Given the description of an element on the screen output the (x, y) to click on. 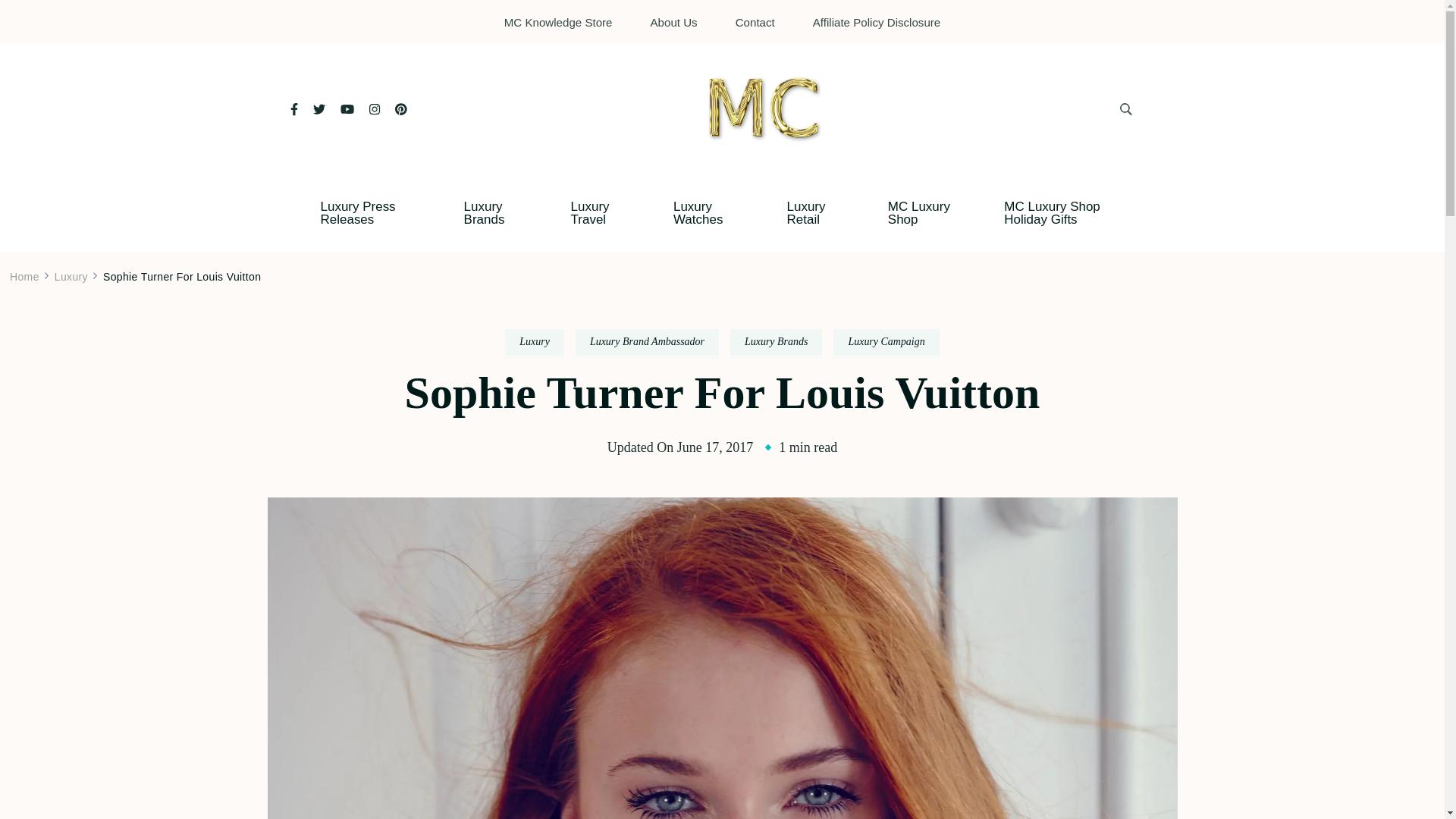
About Us (673, 21)
MC Luxury Shop Holiday Gifts (1067, 212)
Luxury Watches (706, 212)
Luxury Retail (815, 212)
Affiliate Policy Disclosure (876, 21)
Luxury Press Releases (368, 212)
Luxury Travel (598, 212)
MC Knowledge Store (557, 21)
MC Mosnar Communications (851, 157)
MC Luxury Shop (923, 212)
